Given the description of an element on the screen output the (x, y) to click on. 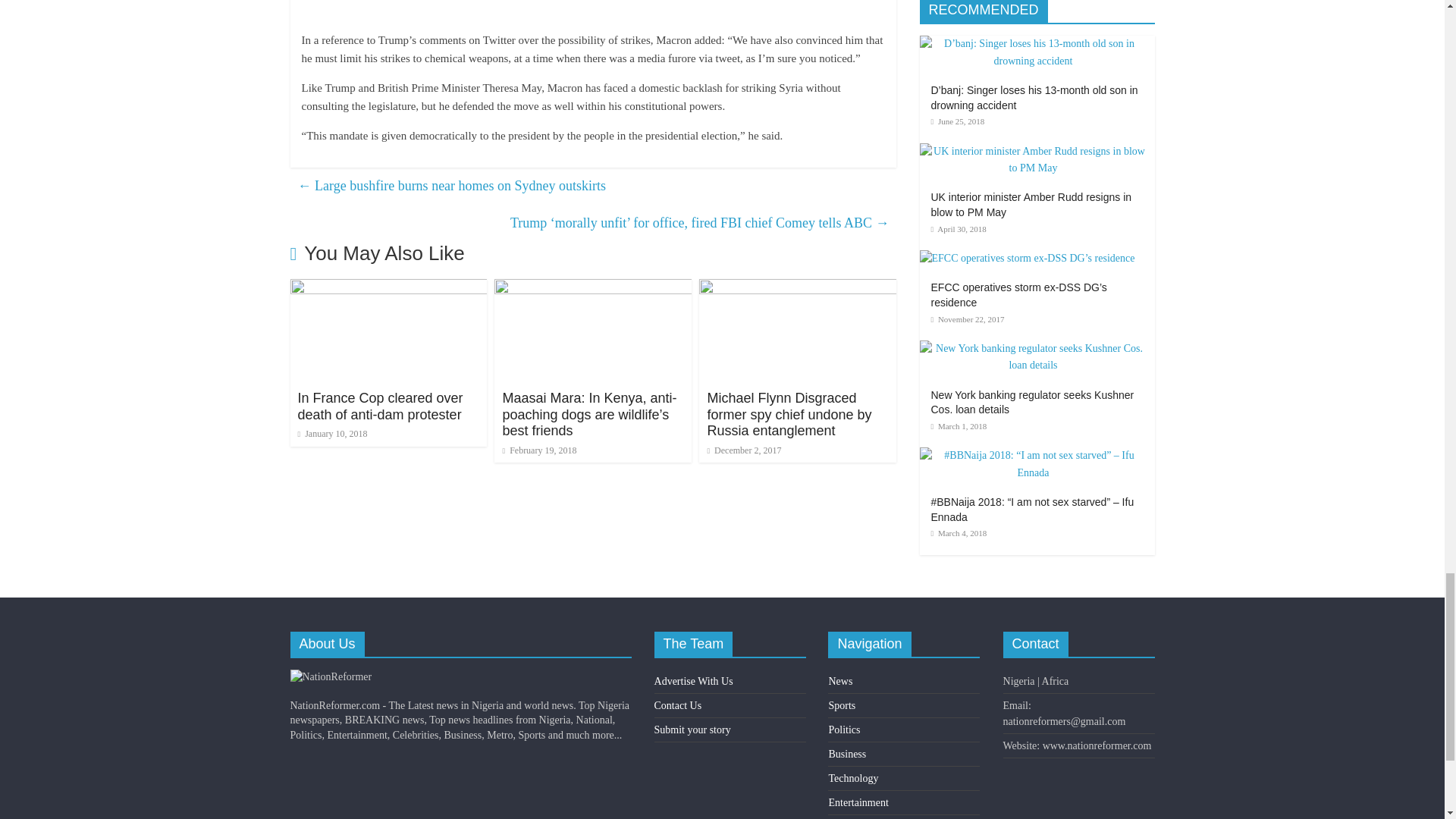
January 10, 2018 (331, 433)
February 19, 2018 (539, 450)
In France Cop cleared over death of anti-dam protester (380, 406)
In France Cop cleared over death of anti-dam protester (380, 406)
5:05 am (331, 433)
In France Cop cleared over death of anti-dam protester (387, 287)
6:45 am (539, 450)
